Given the description of an element on the screen output the (x, y) to click on. 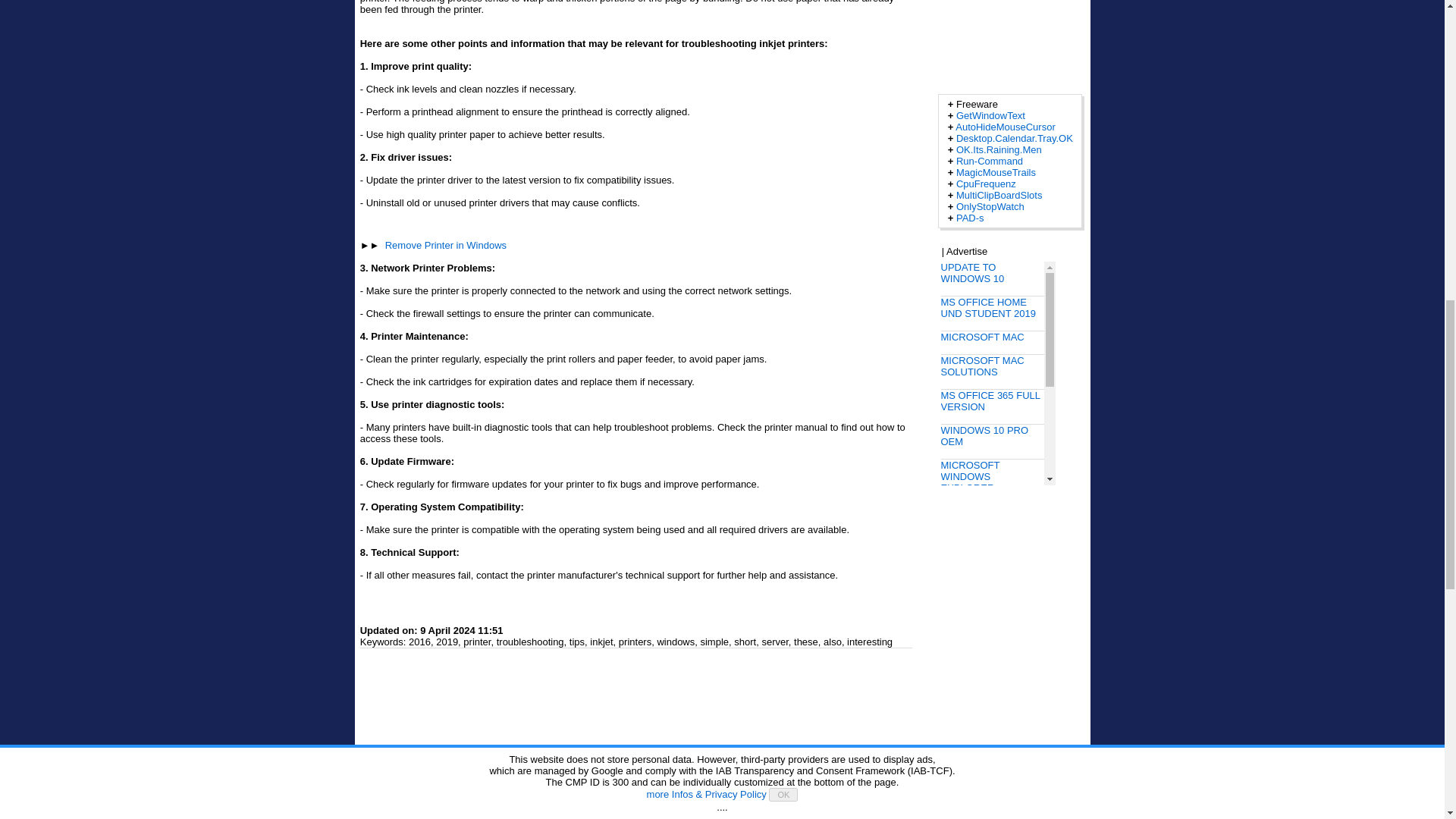
Remove Printer in Windows (445, 244)
